Given the description of an element on the screen output the (x, y) to click on. 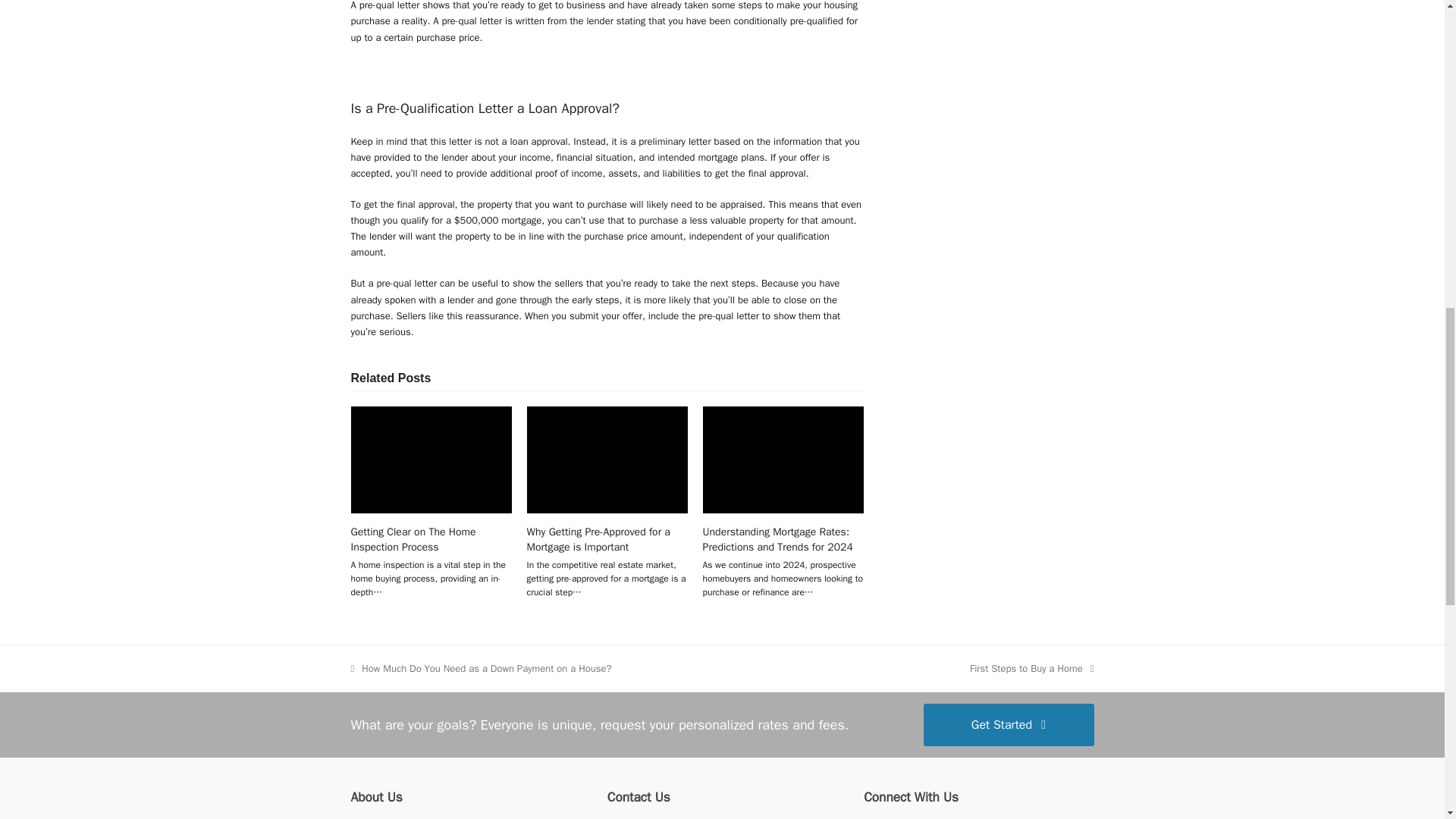
Getting Clear on The Home Inspection Process (413, 538)
Getting Clear on The Home Inspection Process (430, 459)
Why Getting Pre-Approved for a Mortgage is Important (598, 538)
Why Getting Pre-Approved for a Mortgage is Important (607, 459)
